Given the description of an element on the screen output the (x, y) to click on. 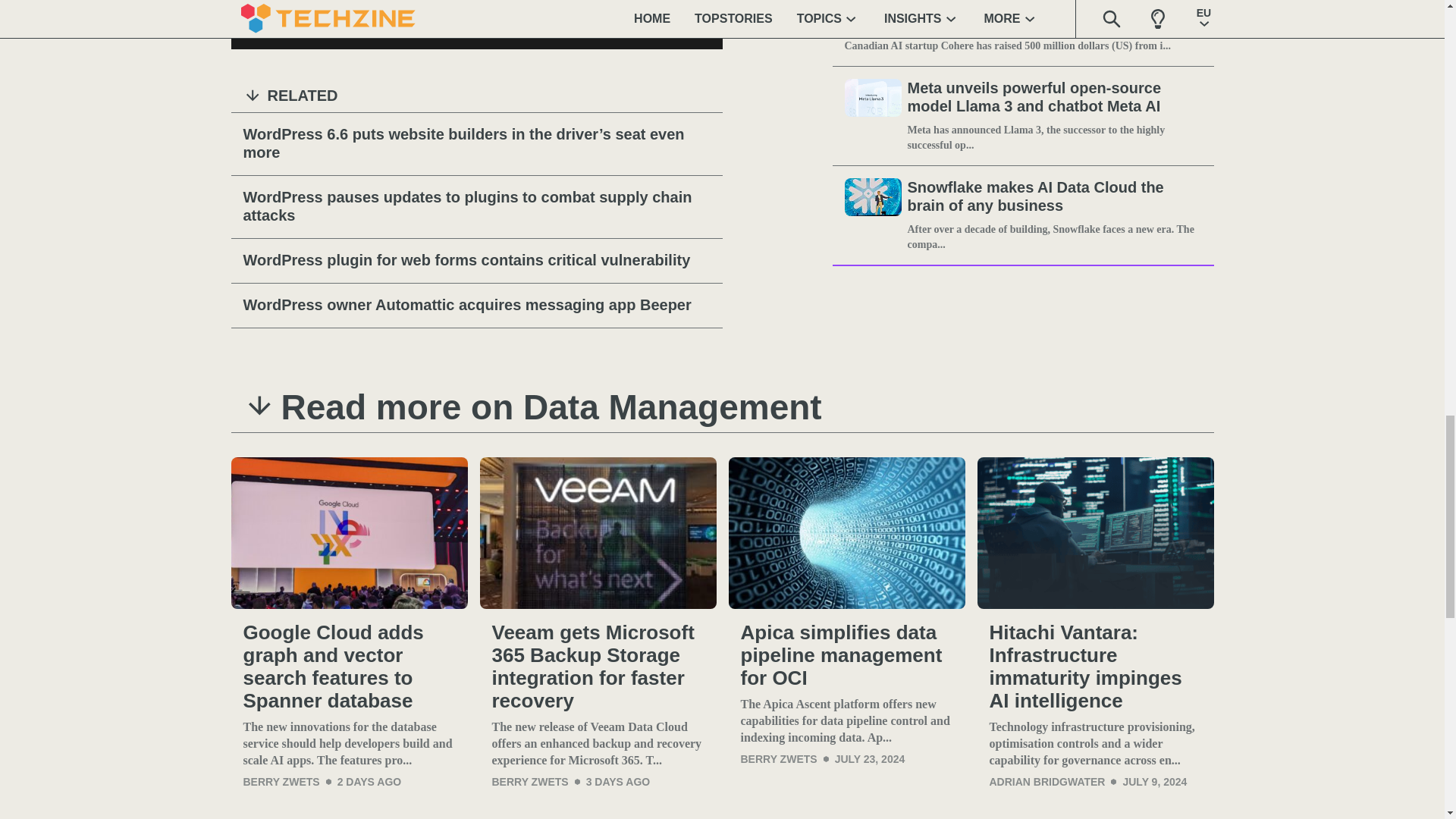
WordPress owner Automattic acquires messaging app Beeper (476, 305)
Snowflake makes AI Data Cloud the brain of any business (1054, 197)
84623981521405447 (378, 25)
84623970802861205 (251, 25)
